Given the description of an element on the screen output the (x, y) to click on. 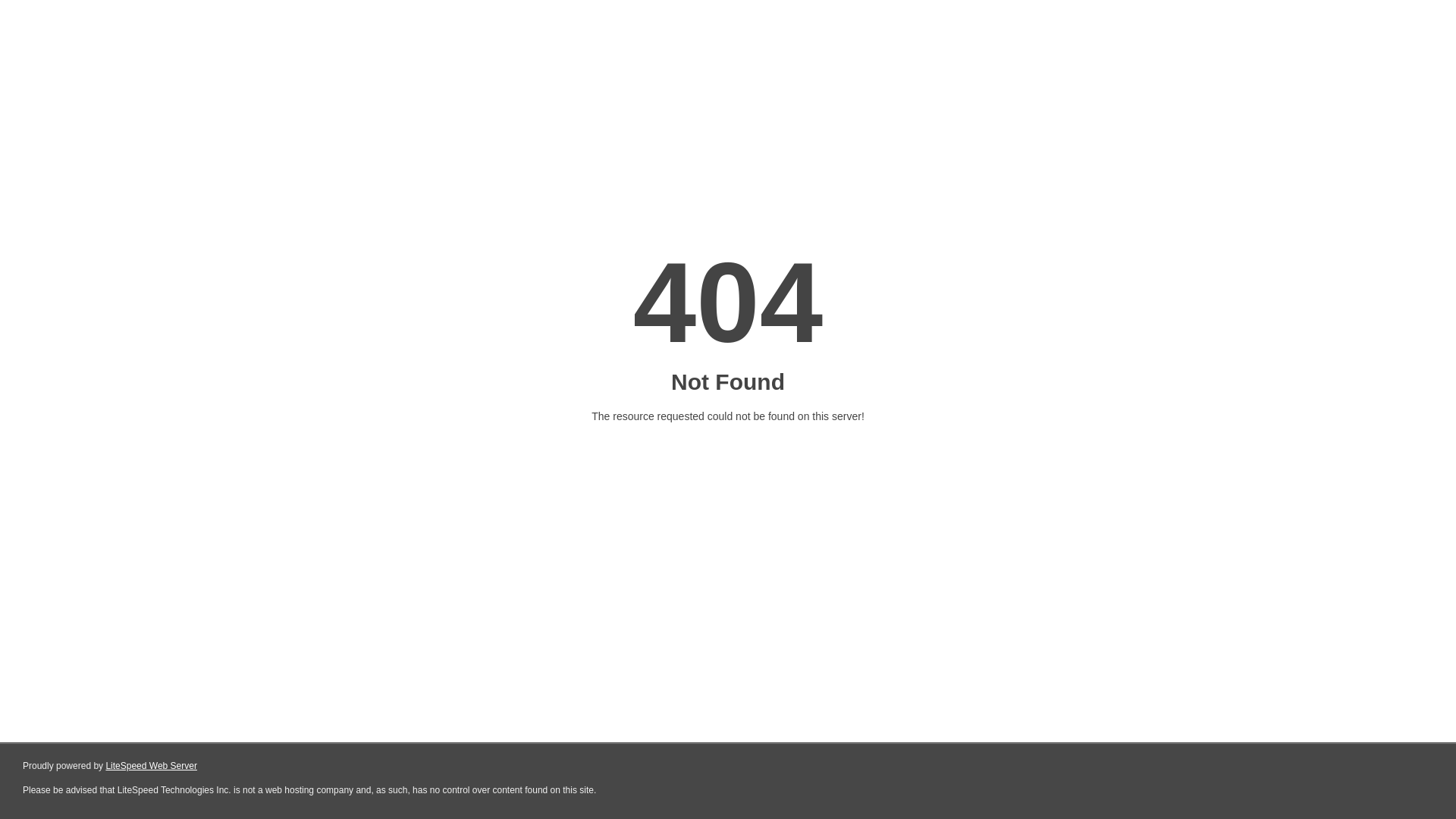
LiteSpeed Web Server Element type: text (151, 765)
